Given the description of an element on the screen output the (x, y) to click on. 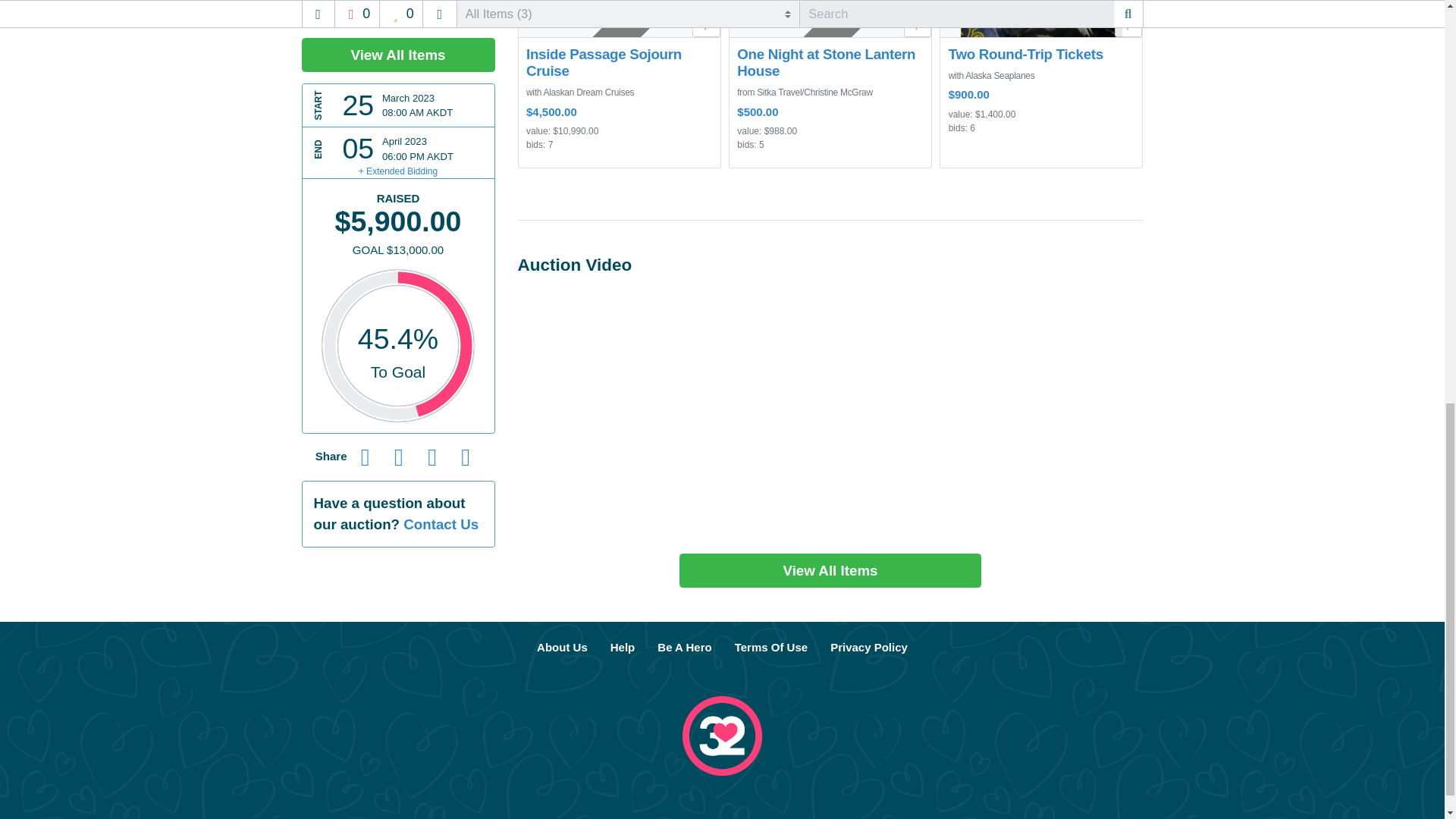
Privacy Policy (868, 647)
Share QR Code (464, 96)
Share on Twitter (398, 96)
My Watchlist (1128, 21)
Help (622, 647)
Be A Hero (684, 647)
YouTube video player (829, 410)
Share on Facebook (365, 96)
How to Run a Silent Auction The Step-by-Step Guide (684, 647)
View All Items (830, 570)
Share by Email (431, 96)
Contact Us (441, 164)
My Watchlist (917, 21)
Terms Of Use (770, 647)
About Us (561, 647)
